Given the description of an element on the screen output the (x, y) to click on. 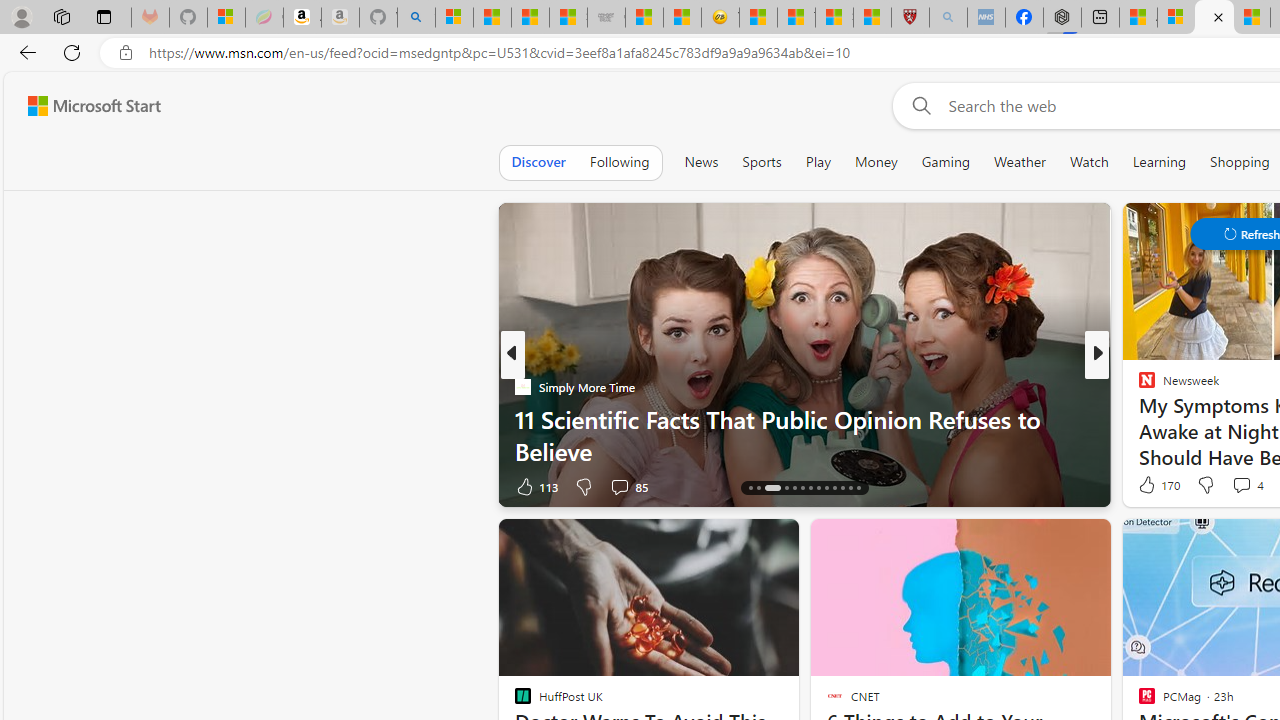
AutomationID: tab-25 (850, 487)
AutomationID: tab-19 (801, 487)
AutomationID: tab-16 (772, 487)
Million Dollar Sense (1138, 418)
View comments 4 Comment (1247, 484)
View comments 231 Comment (1228, 485)
View comments 5 Comment (1234, 486)
